Given the description of an element on the screen output the (x, y) to click on. 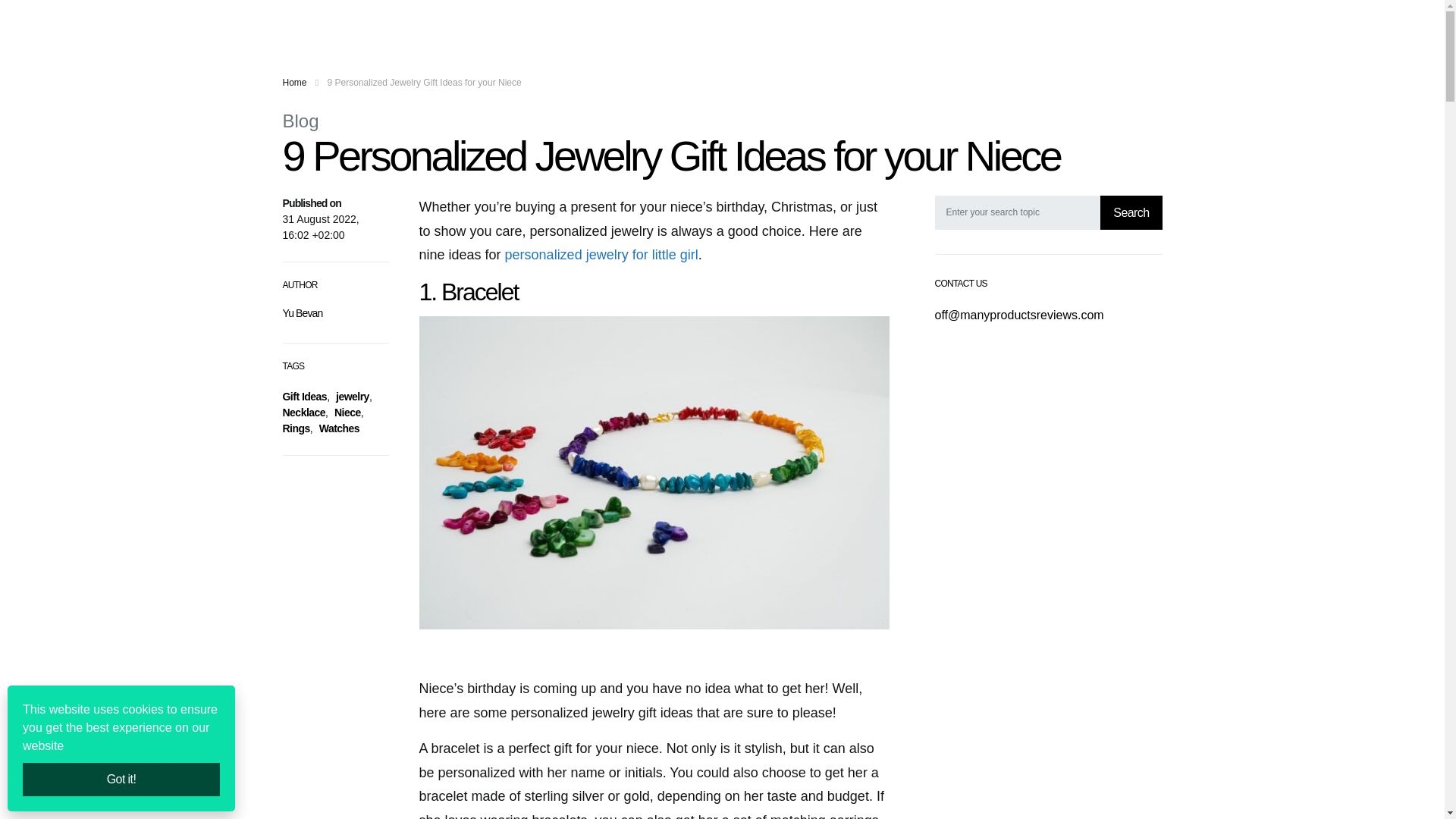
Many Product Reviews (355, 22)
Travel (511, 22)
Blog (300, 120)
Rings (295, 428)
Gift Ideas (304, 396)
Watches (338, 428)
Cycling (553, 22)
World Reviews (613, 22)
Niece (347, 412)
Sitemap (750, 22)
Home (476, 22)
Necklace (303, 412)
jewelry (352, 396)
Privacy Policy (689, 22)
Contact Us (801, 22)
